Given the description of an element on the screen output the (x, y) to click on. 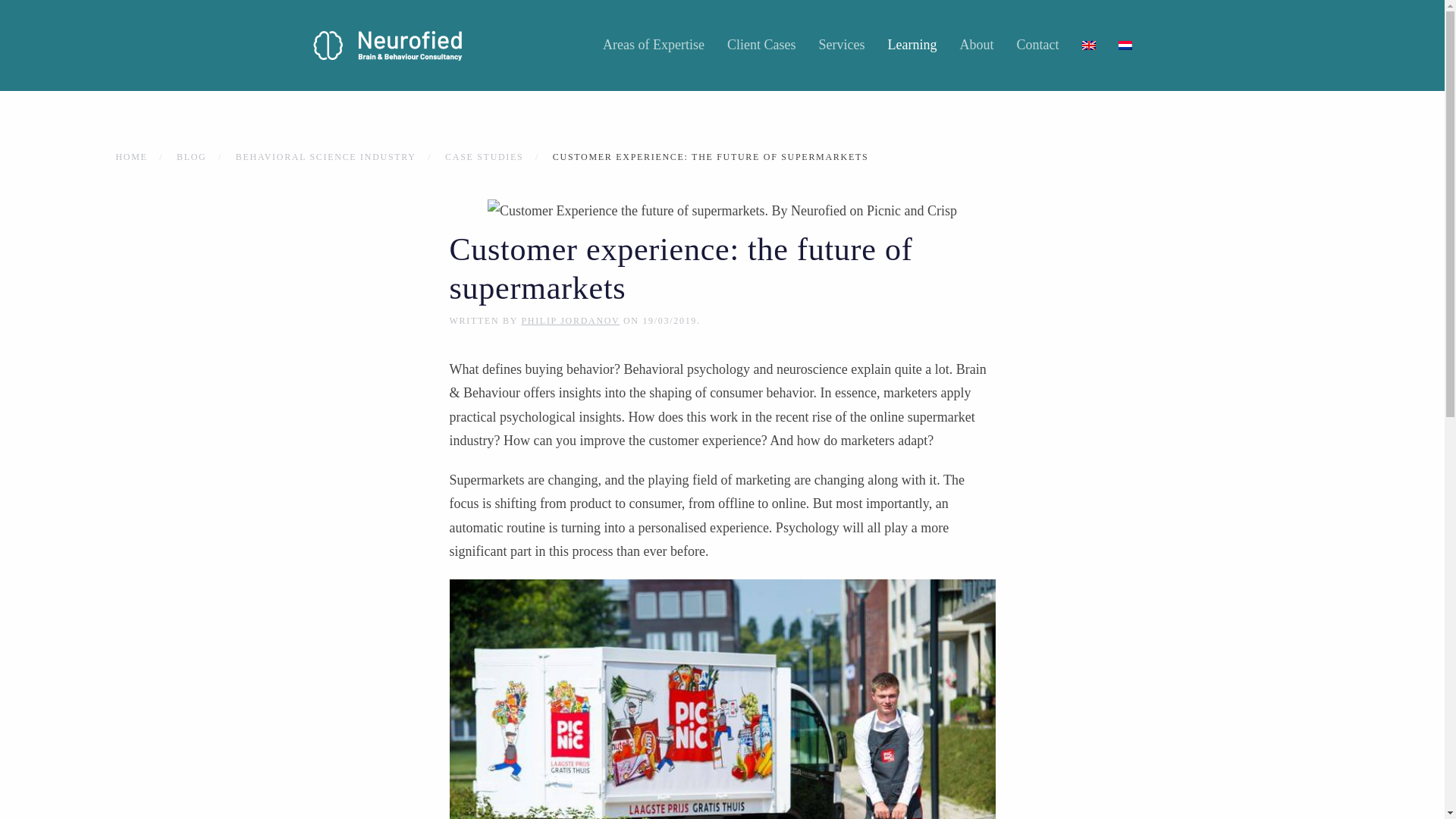
Client Cases (761, 45)
CASE STUDIES (483, 156)
PHILIP JORDANOV (570, 320)
HOME (131, 156)
BEHAVIORAL SCIENCE INDUSTRY (325, 156)
Areas of Expertise (653, 45)
BLOG (191, 156)
